Given the description of an element on the screen output the (x, y) to click on. 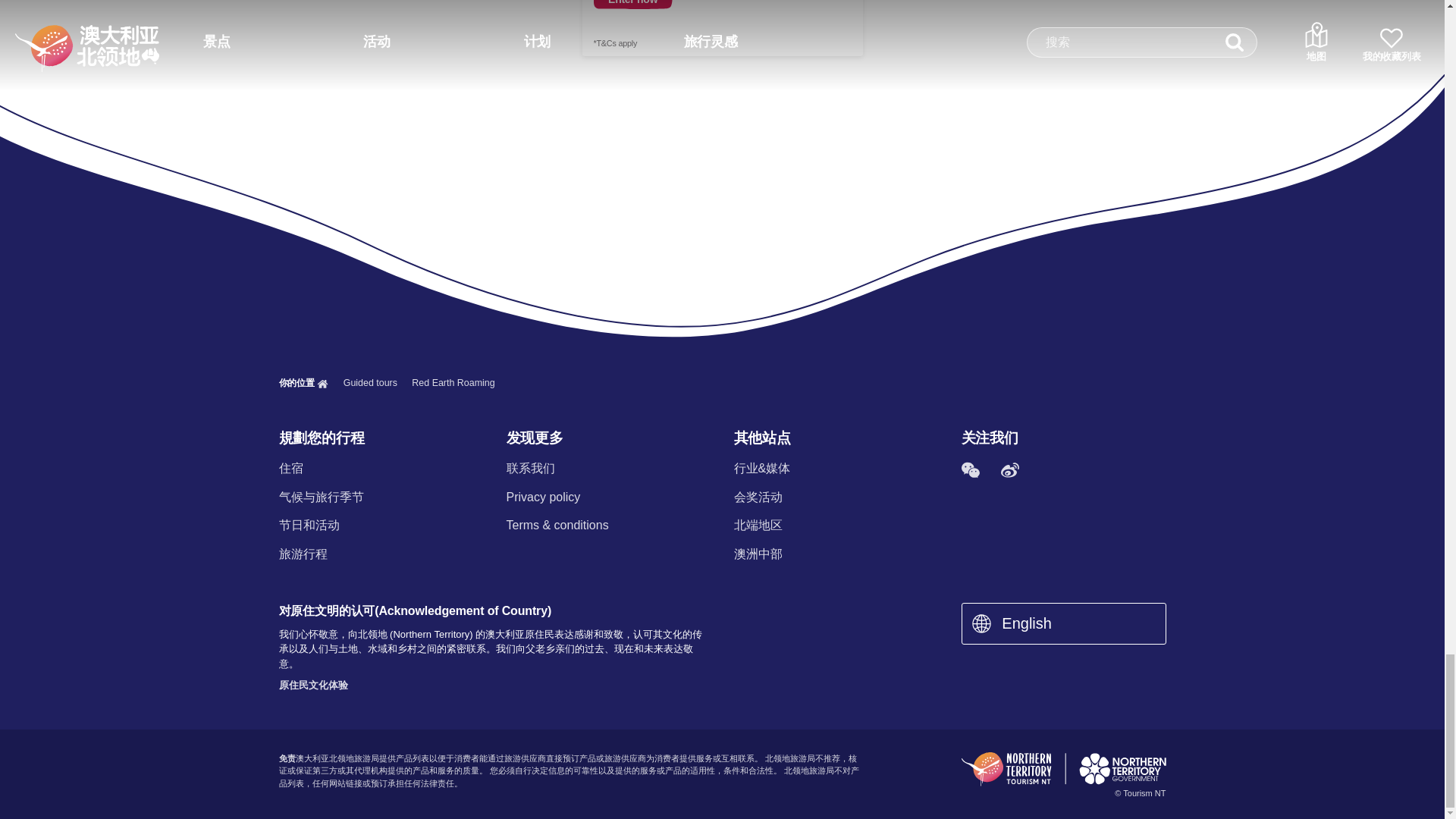
Opens in a new window (722, 28)
wechat (970, 470)
